Given the description of an element on the screen output the (x, y) to click on. 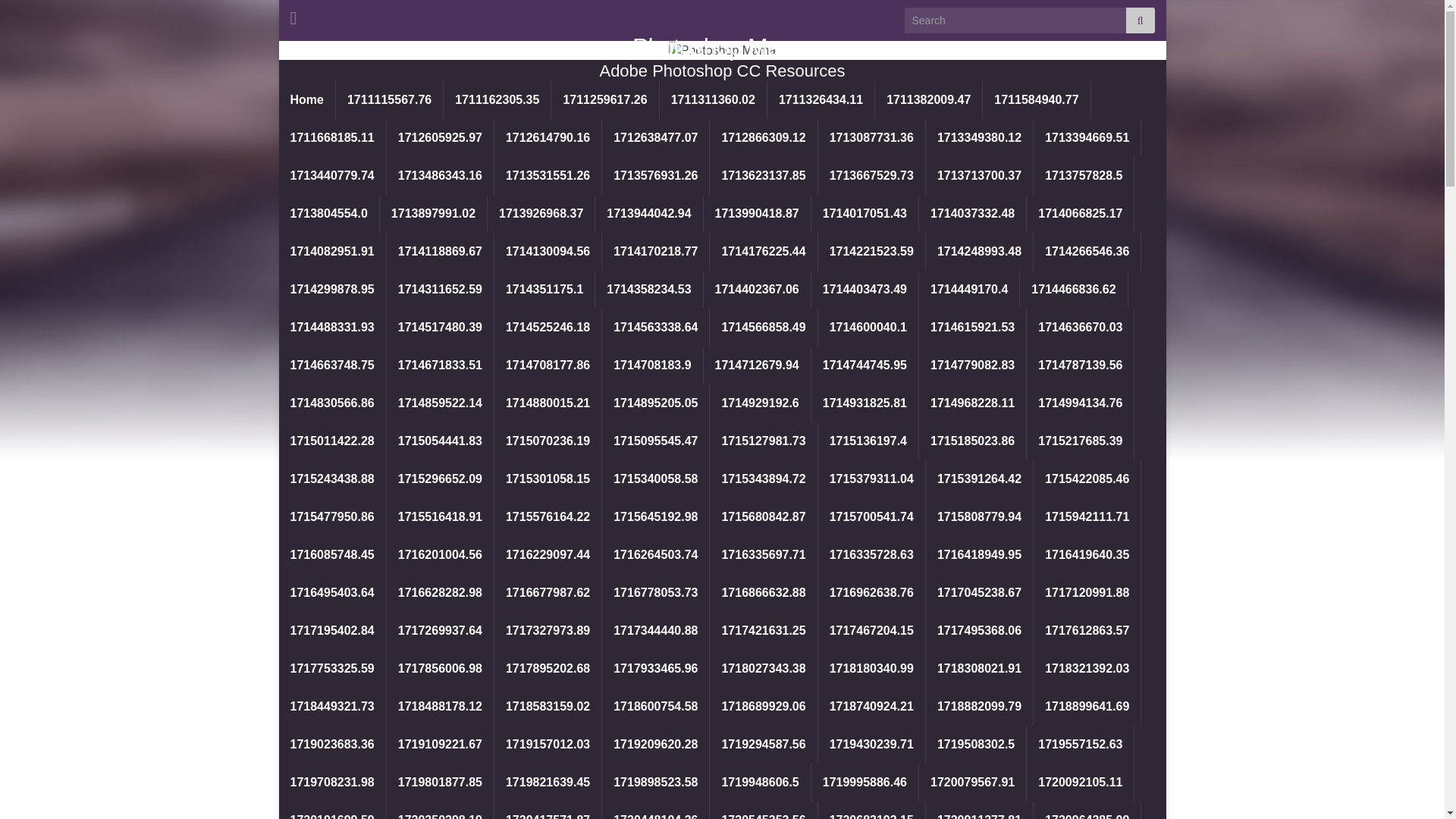
1711311360.02 (713, 99)
1713667529.73 (871, 175)
Home (306, 99)
1712866309.12 (763, 137)
1714130094.56 (548, 251)
Photoshop Mama (721, 46)
1714118869.67 (440, 251)
1711668185.11 (332, 137)
1712638477.07 (655, 137)
Photoshop Mama (722, 50)
1714082951.91 (332, 251)
1711326434.11 (821, 99)
1714017051.43 (864, 213)
1713087731.36 (871, 137)
1711115567.76 (389, 99)
